Given the description of an element on the screen output the (x, y) to click on. 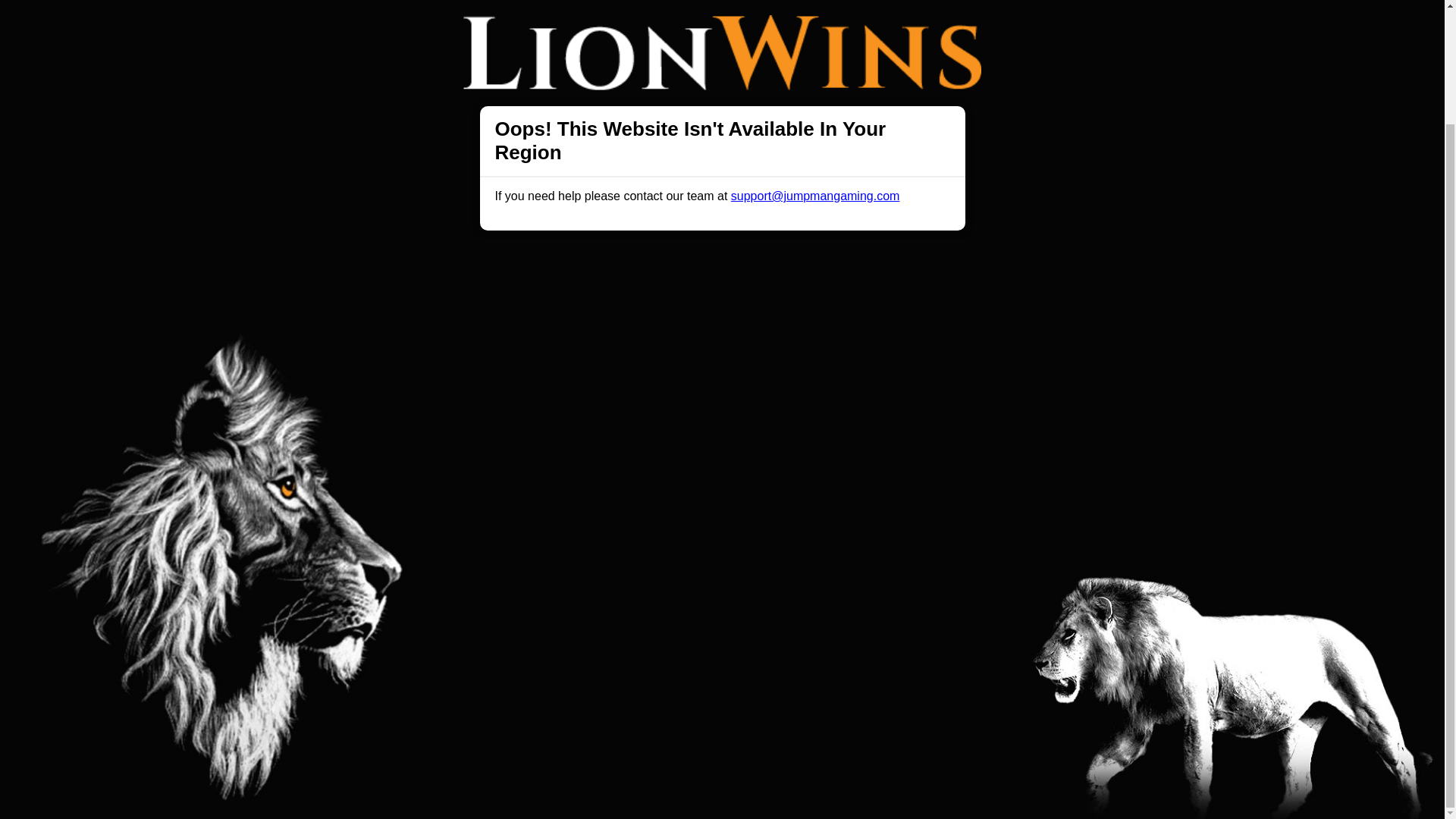
Privacy Policy (671, 491)
Blog (738, 491)
39175 (988, 694)
www.begambleaware.org (615, 657)
Back To Home (722, 380)
Jumpman Gaming Limited (513, 694)
Affiliates (791, 491)
www.jumpmancares.co.uk (738, 657)
Help (489, 491)
Responsible Gaming (407, 491)
